Given the description of an element on the screen output the (x, y) to click on. 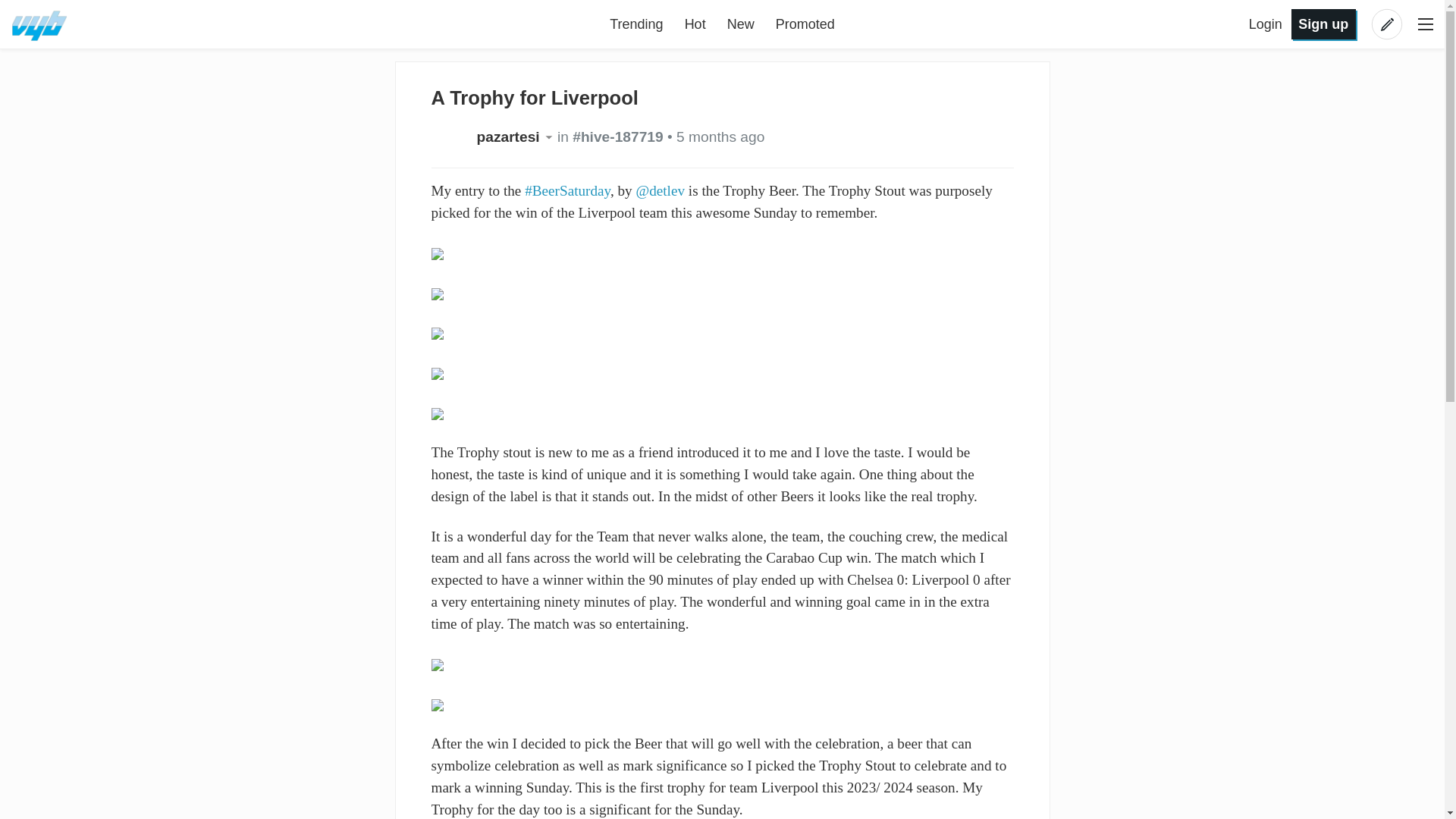
Hot (695, 23)
New (740, 23)
Login (1267, 23)
Sign up (1323, 23)
Promoted (805, 23)
Trending (636, 23)
pazartesi (516, 136)
